Given the description of an element on the screen output the (x, y) to click on. 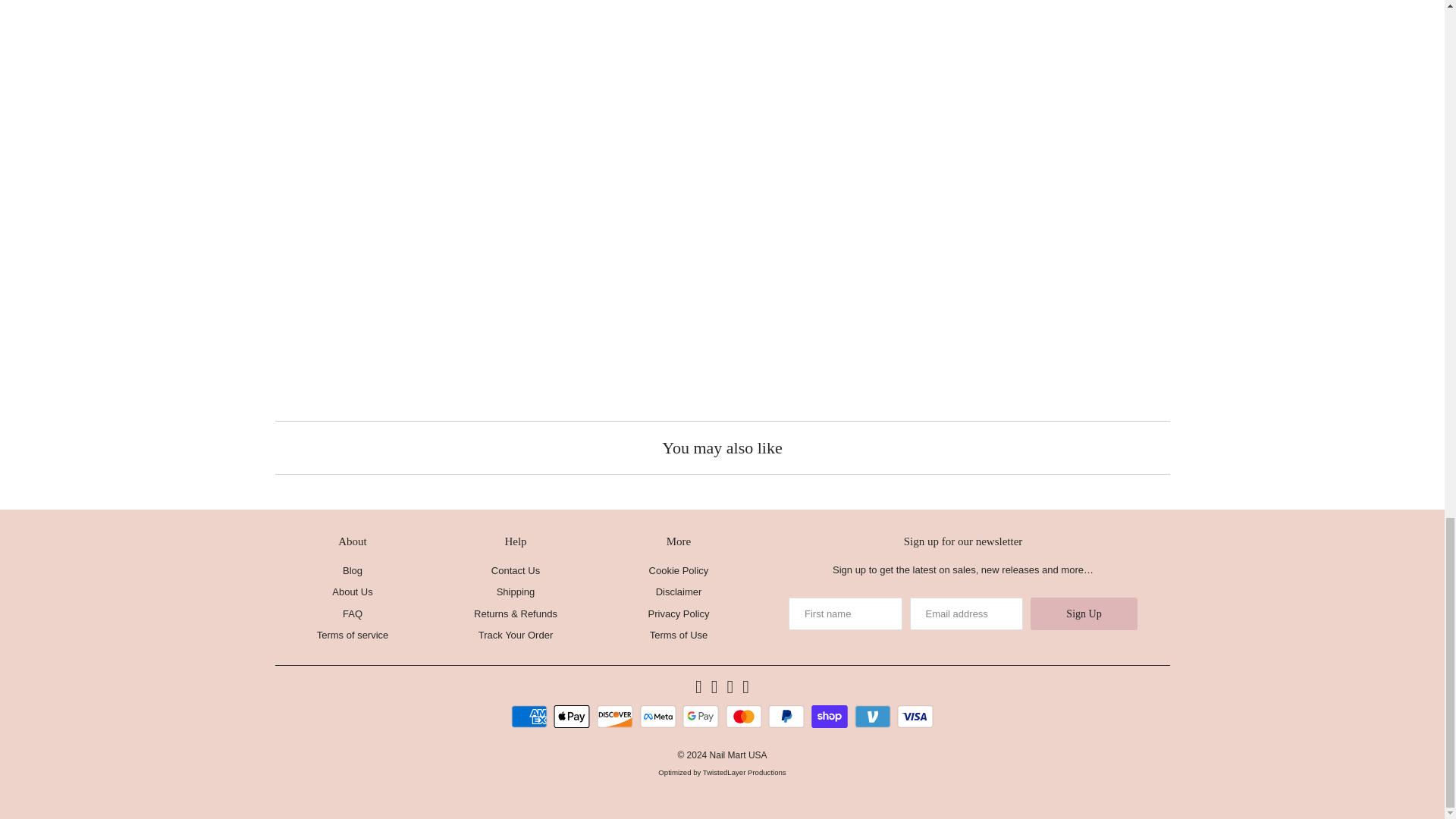
Venmo (874, 716)
Sign Up (1083, 613)
Discover (616, 716)
American Express (531, 716)
Mastercard (745, 716)
Visa (914, 716)
Shop Pay (830, 716)
Meta Pay (659, 716)
PayPal (788, 716)
Apple Pay (573, 716)
Google Pay (702, 716)
